Given the description of an element on the screen output the (x, y) to click on. 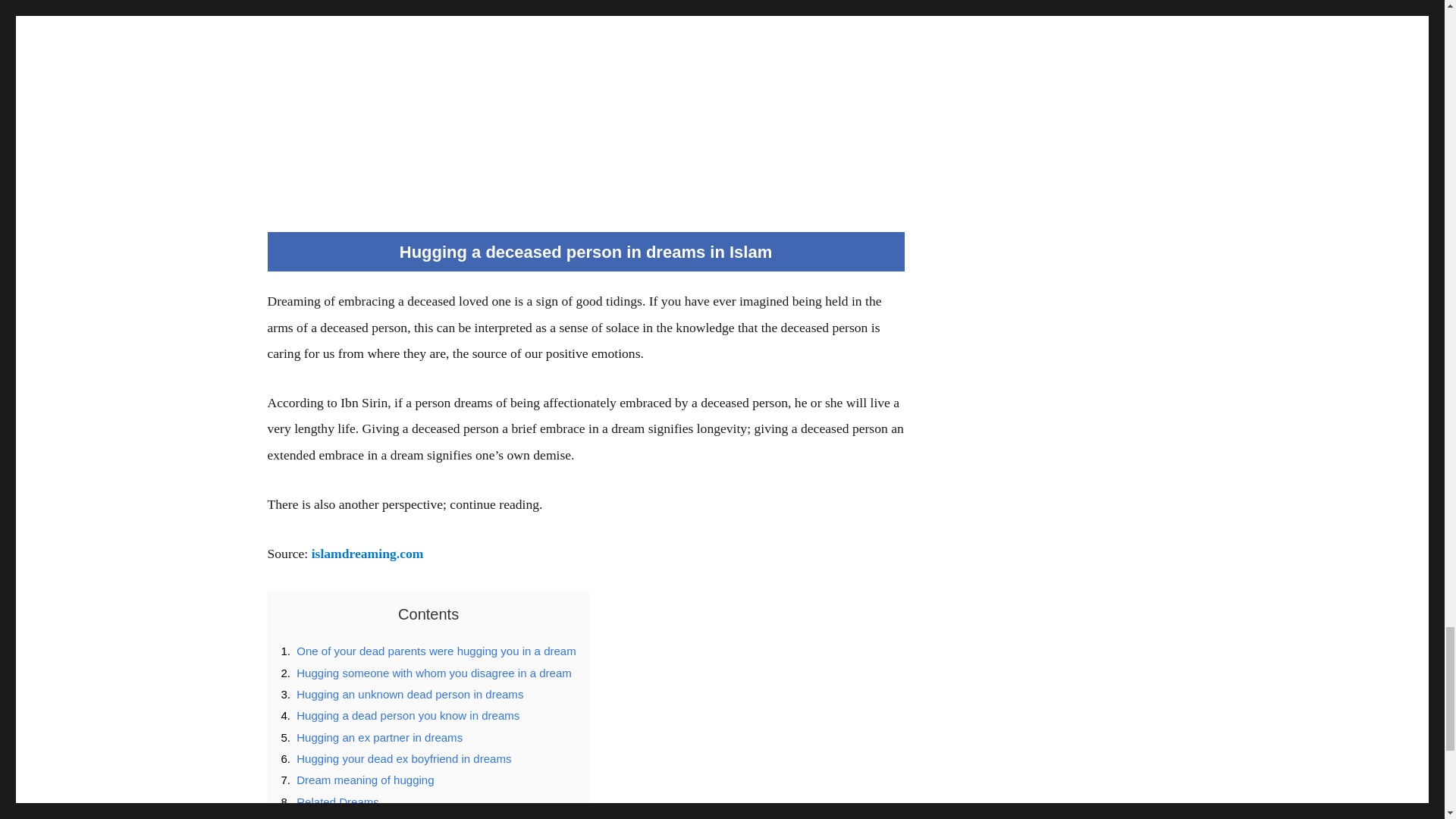
1. One of your dead parents were hugging you in a dream (428, 650)
islamdreaming.com (367, 553)
3. Hugging an unknown dead person in dreams (401, 694)
2. Hugging someone with whom you disagree in a dream (425, 672)
YouTube video player (585, 88)
6. Hugging your dead ex boyfriend in dreams (396, 758)
4. Hugging a dead person you know in dreams (400, 715)
8. Related Dreams (329, 801)
5. Hugging an ex partner in dreams (372, 737)
